Given the description of an element on the screen output the (x, y) to click on. 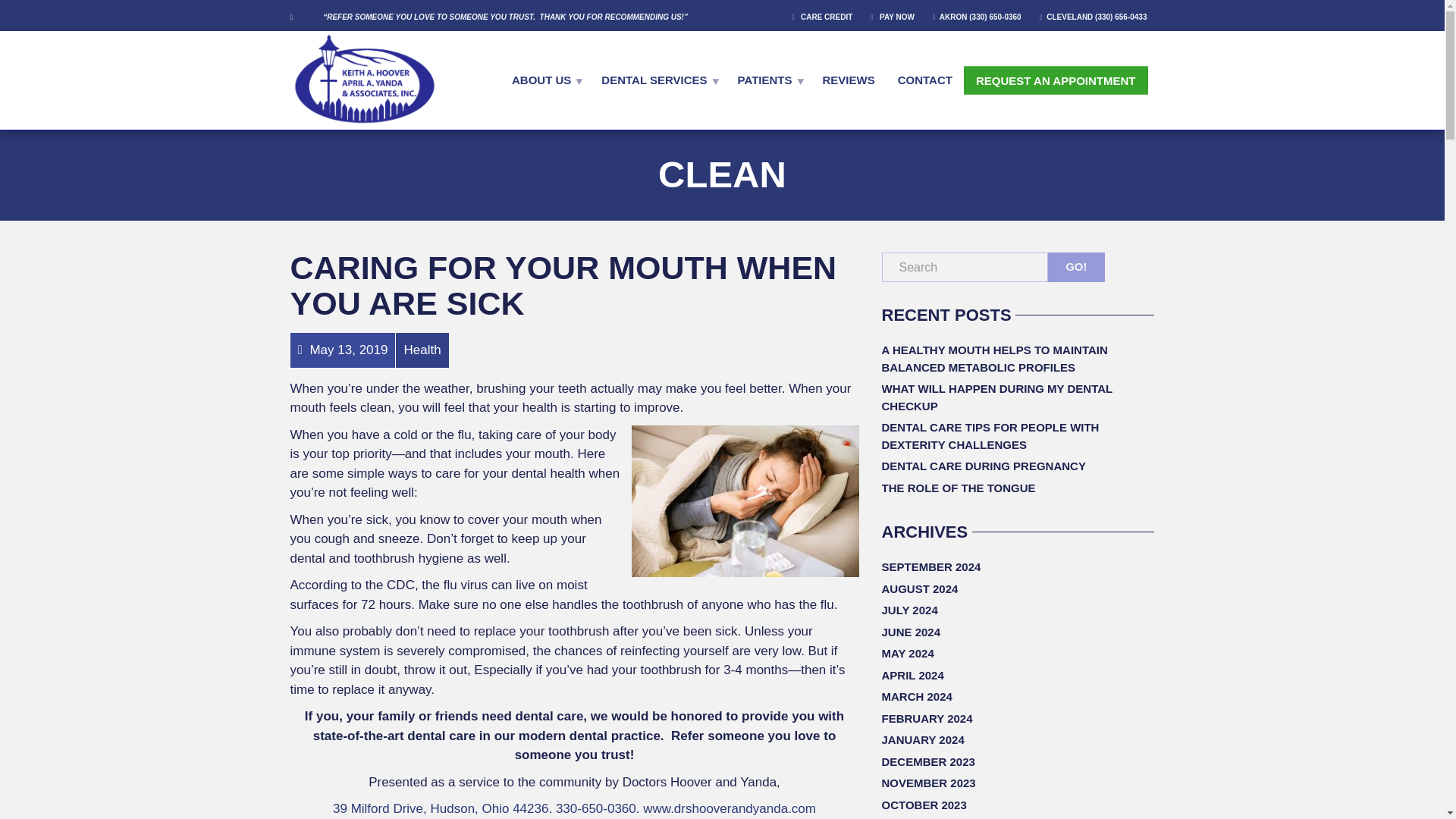
About Us (544, 79)
   PAY NOW (894, 16)
PATIENTS (768, 79)
Dental Services (657, 79)
   CARE CREDIT (829, 16)
REQUEST AN APPOINTMENT (1055, 79)
DENTAL SERVICES (657, 79)
REVIEWS (848, 79)
CONTACT (924, 79)
ABOUT US (544, 79)
